Given the description of an element on the screen output the (x, y) to click on. 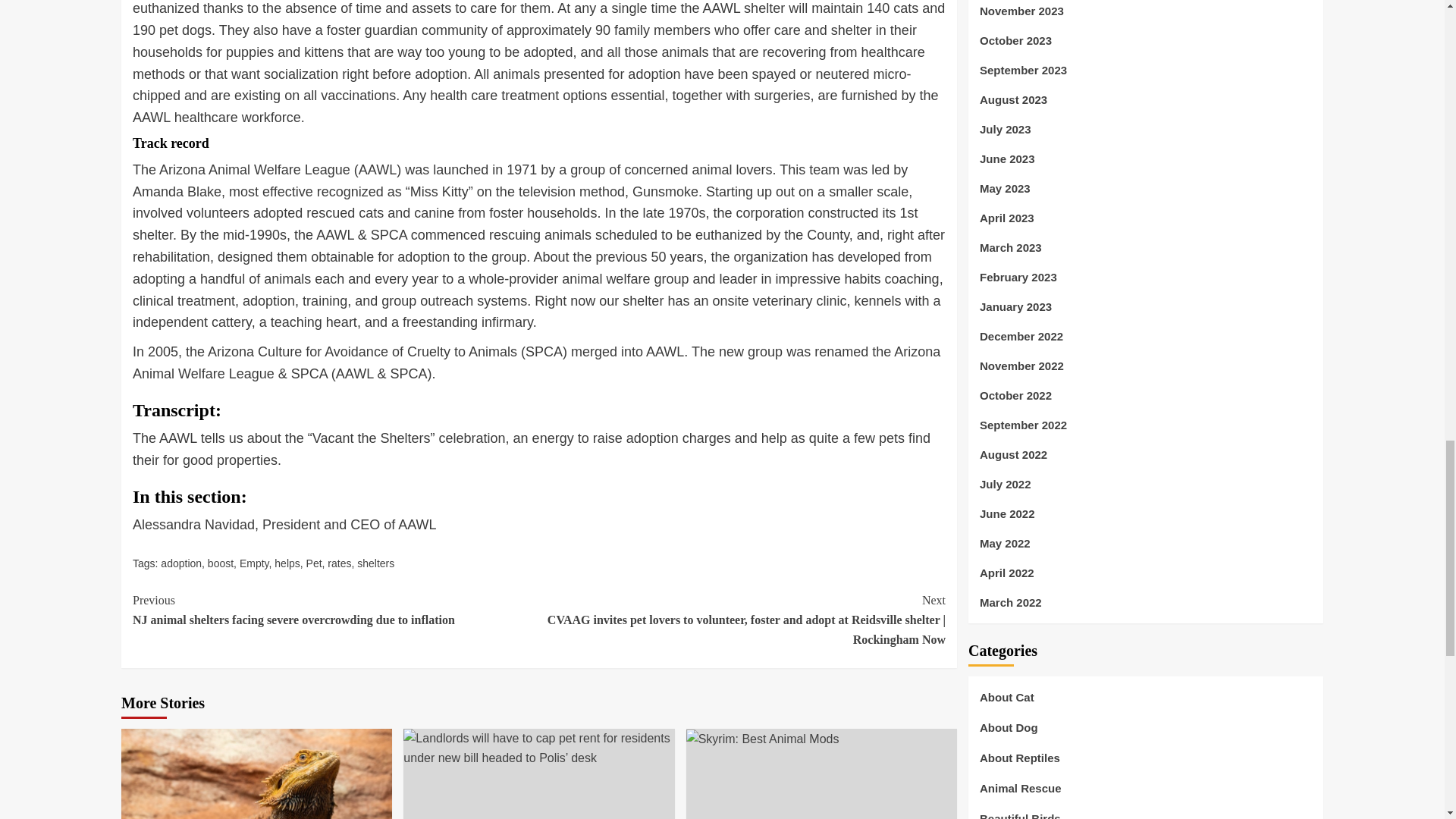
Pet (313, 563)
Skyrim: Best Animal Mods (762, 739)
rates (338, 563)
Empty (254, 563)
helps (287, 563)
shelters (375, 563)
boost (220, 563)
adoption (181, 563)
